Given the description of an element on the screen output the (x, y) to click on. 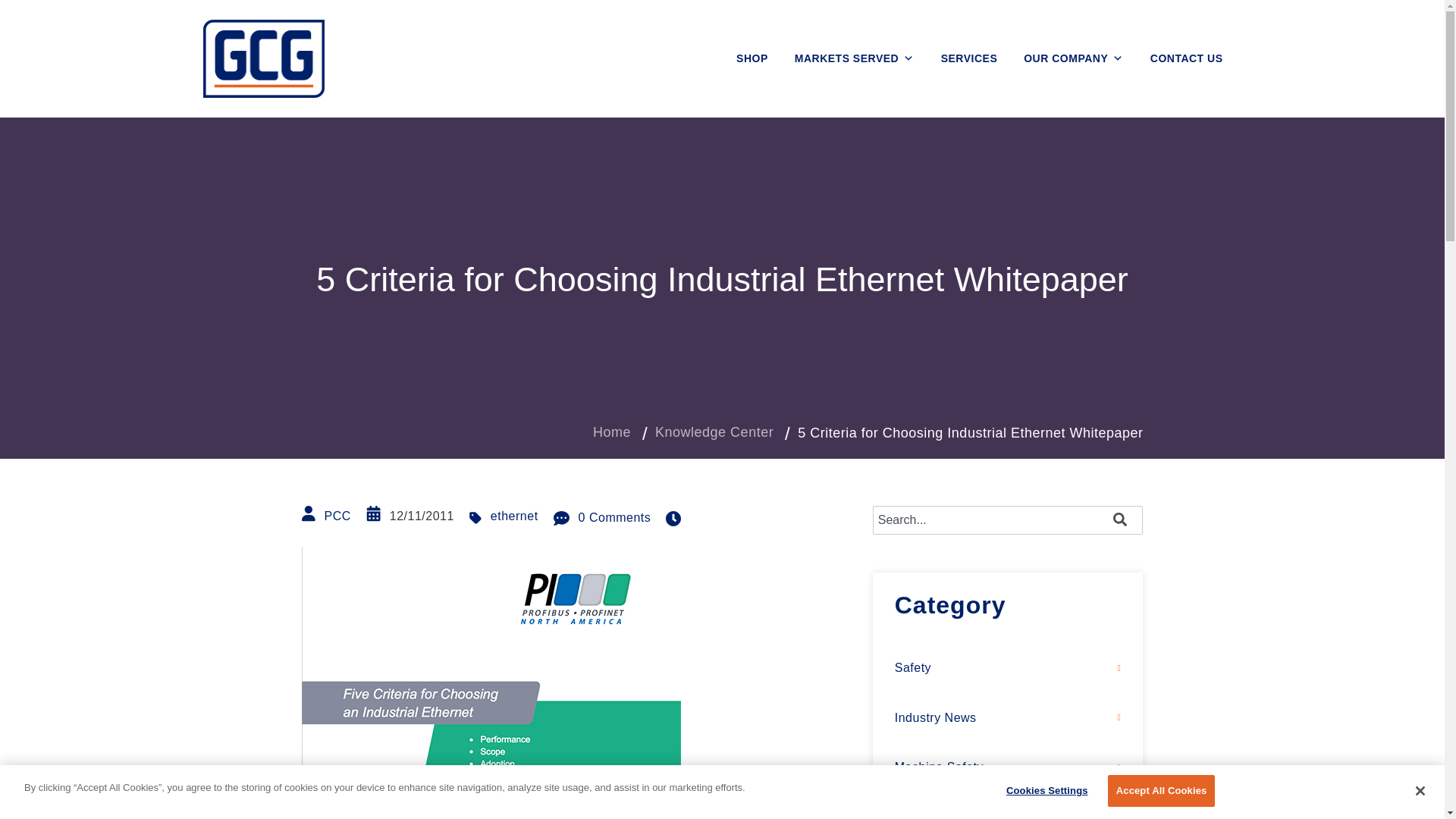
5 Criteria for choosing Industrial Ethernet whitepaper (491, 683)
Home (611, 432)
Industry News (1007, 718)
0 Comments (601, 518)
ethernet (514, 515)
CONTACT US (1186, 58)
Banner Engineering (1007, 806)
SERVICES (969, 58)
SHOP (752, 58)
Knowledge Center (714, 432)
Safety (1007, 668)
Machine Safety (1007, 767)
PCC (337, 515)
gcg-logo-color-digital (263, 58)
MARKETS SERVED (854, 58)
